Given the description of an element on the screen output the (x, y) to click on. 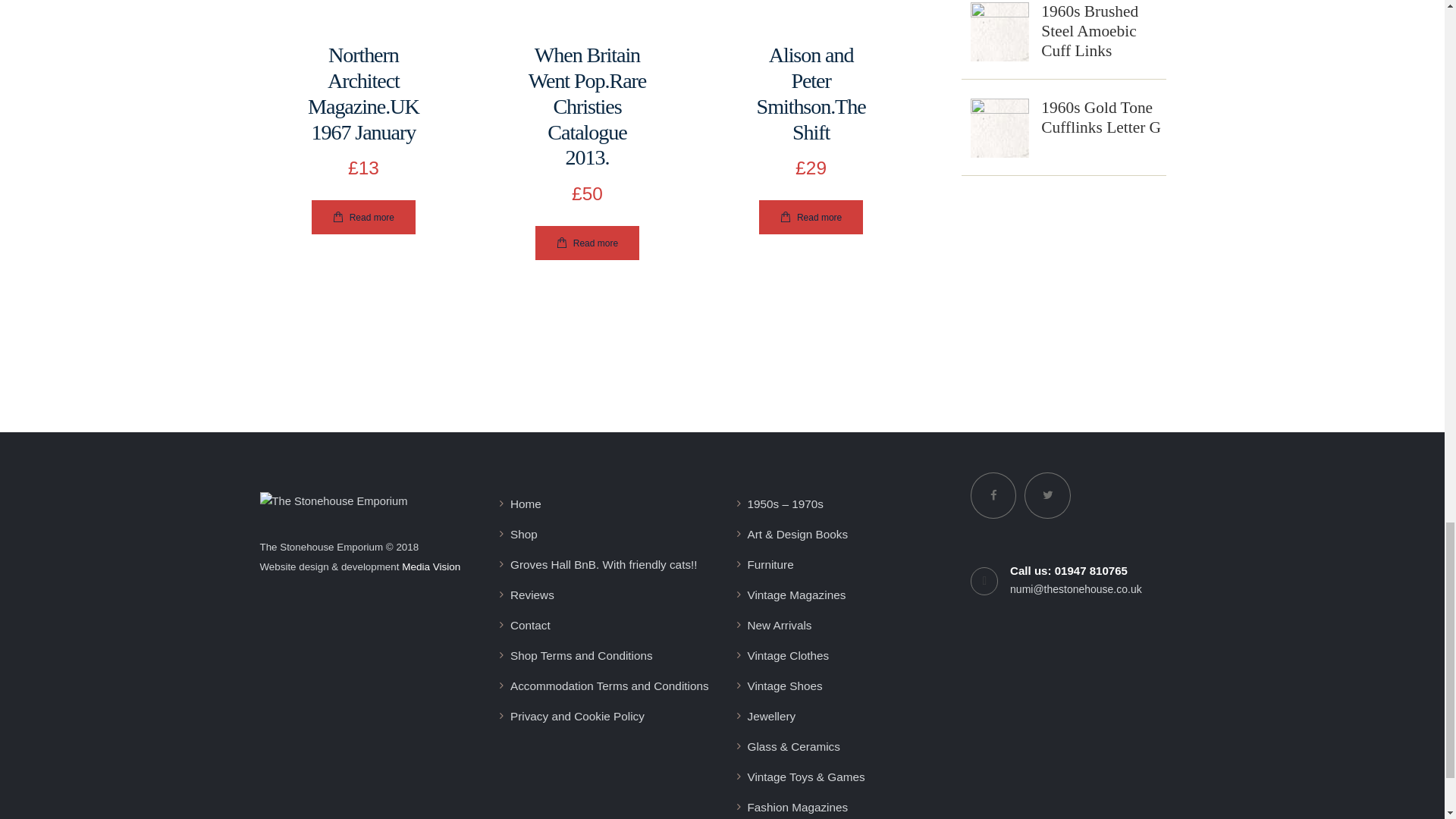
SOLD (363, 21)
Read more (587, 243)
When Britain Went Pop.Rare Christies Catalogue 2013. (587, 106)
The Stonehouse Emporium (333, 501)
Read more (362, 216)
SOLD (587, 21)
Northern Architect Magazine.UK 1967 January (362, 93)
